Given the description of an element on the screen output the (x, y) to click on. 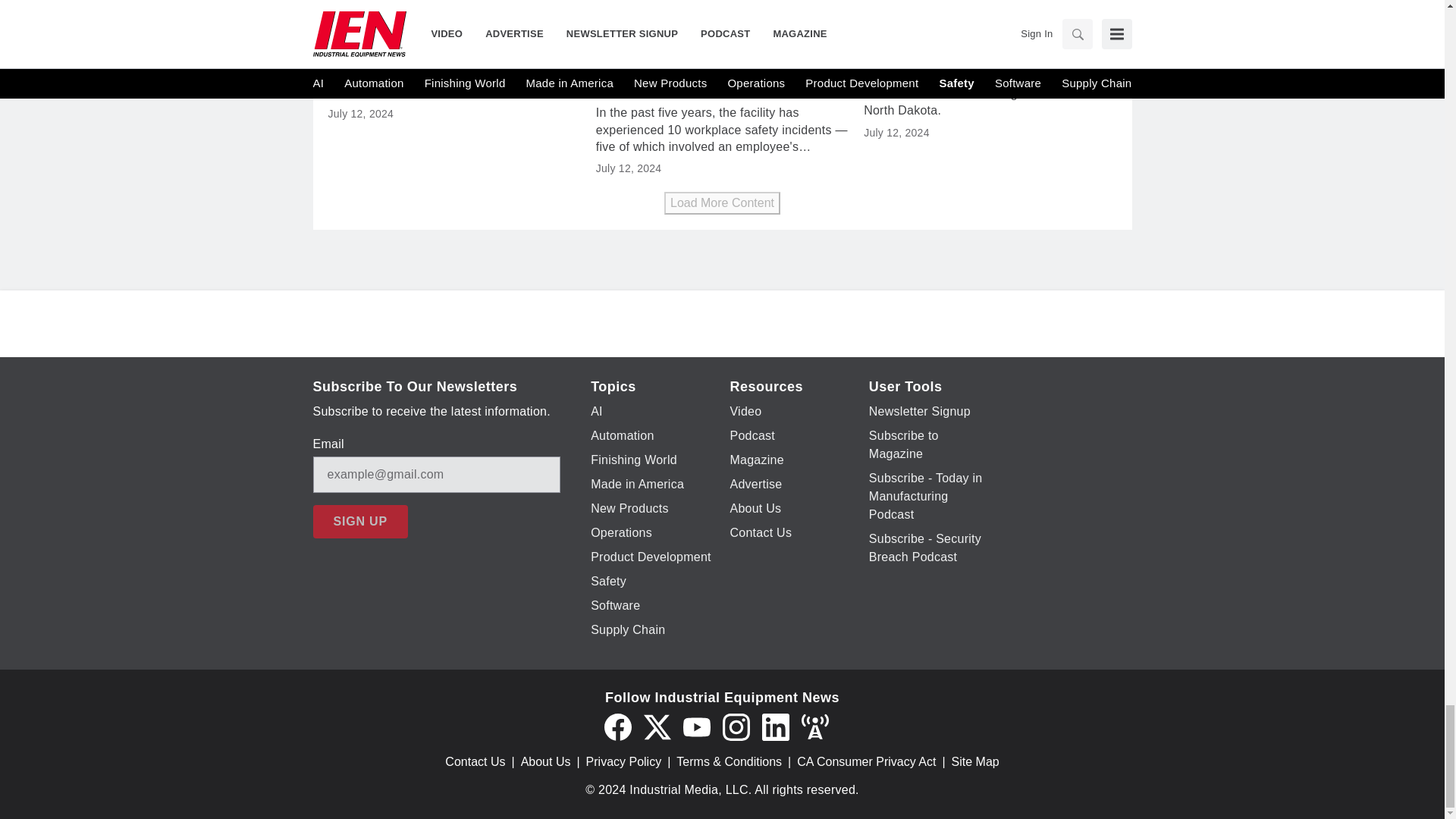
Twitter X icon (656, 727)
YouTube icon (696, 727)
Instagram icon (735, 727)
Facebook icon (617, 727)
LinkedIn icon (775, 727)
